Given the description of an element on the screen output the (x, y) to click on. 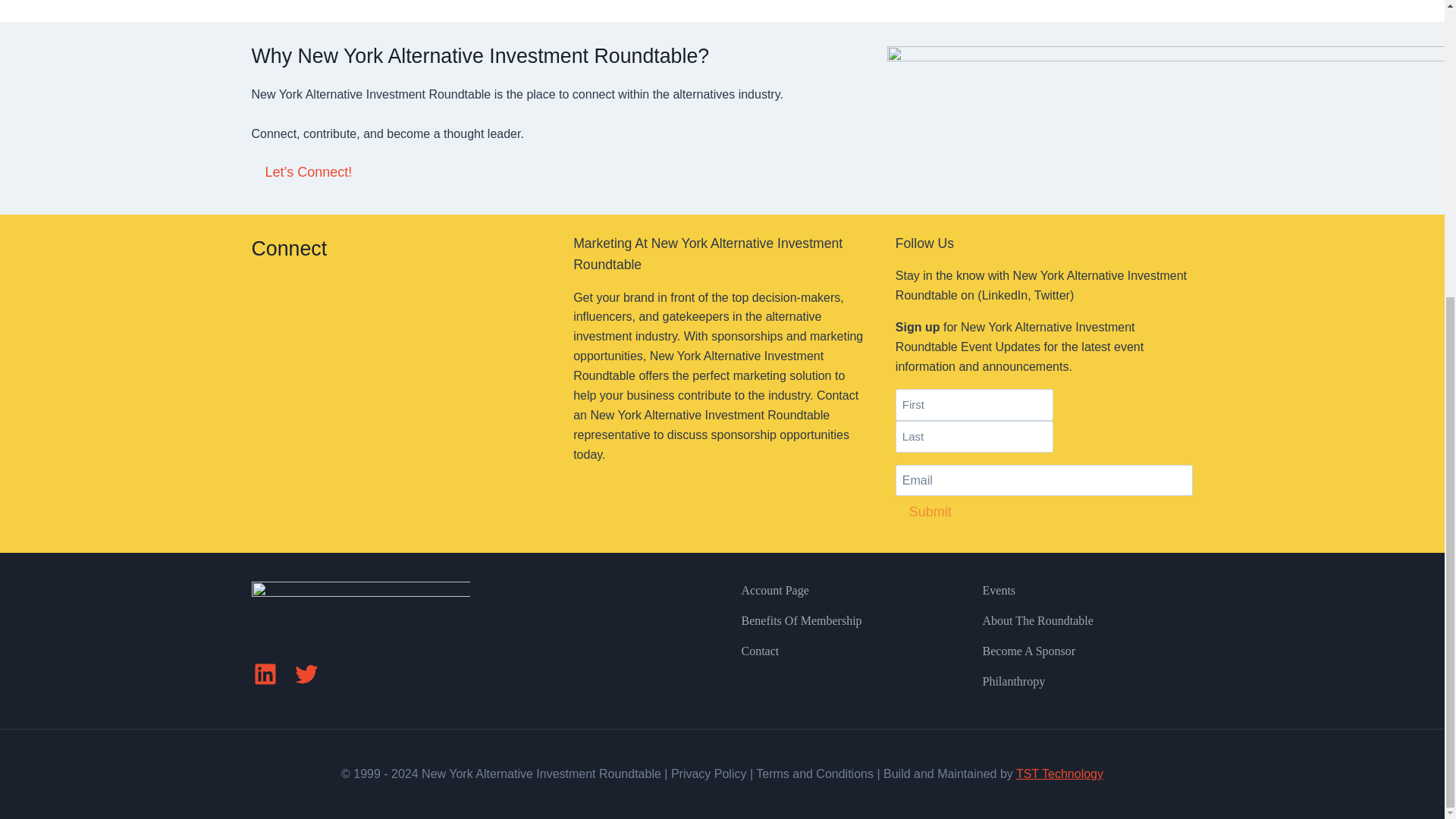
Submit (930, 512)
LinkedIn (265, 673)
Twitter (306, 673)
Benefits Of Membership (842, 621)
Contact (842, 651)
About The Roundtable (1084, 621)
Become A Sponsor (1084, 651)
Philanthropy (1084, 681)
Account Page (842, 590)
Submit (930, 512)
